Given the description of an element on the screen output the (x, y) to click on. 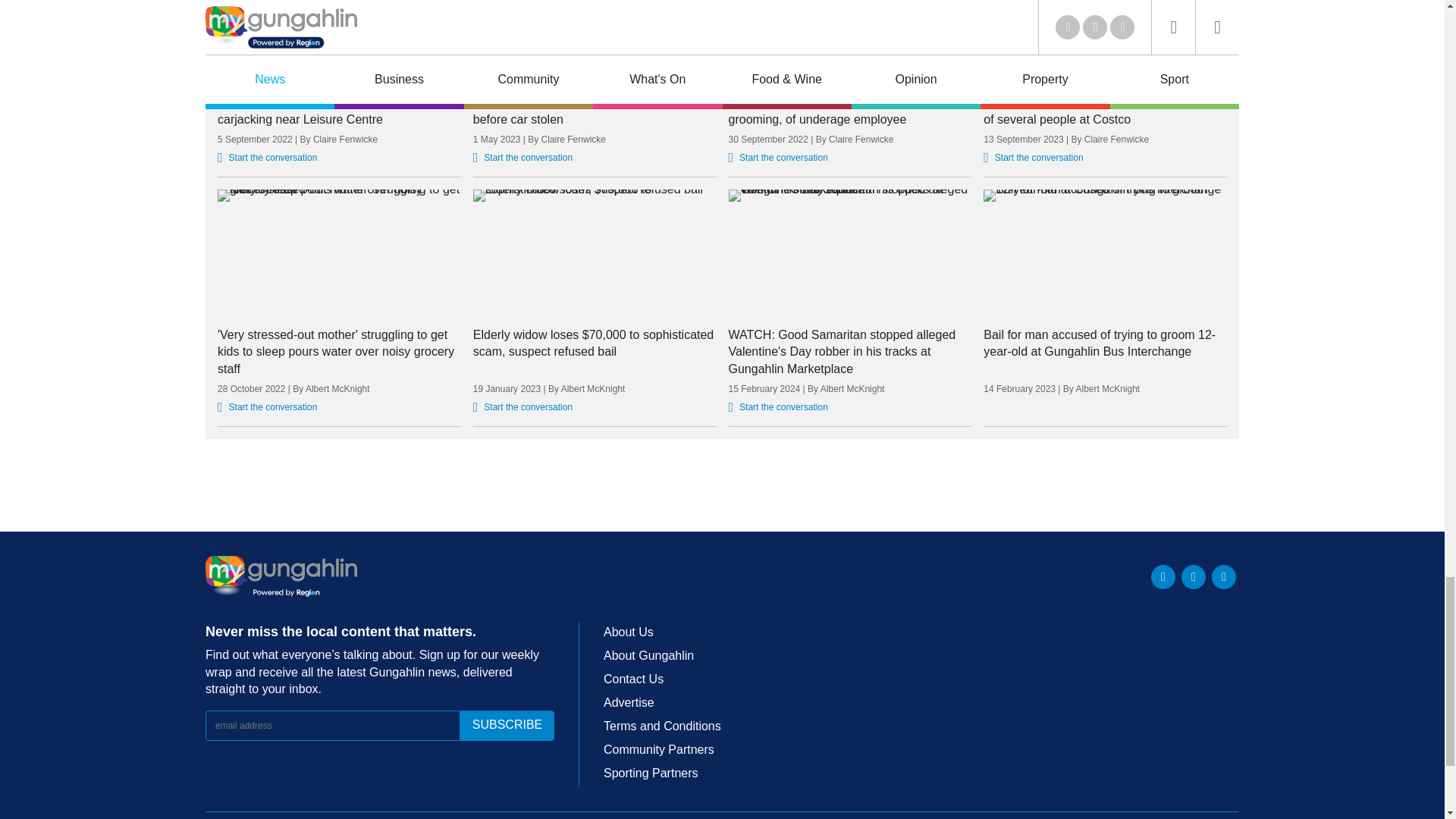
subscribe (507, 725)
Instagram (1223, 576)
Twitter (1162, 576)
Facebook (1192, 576)
